Given the description of an element on the screen output the (x, y) to click on. 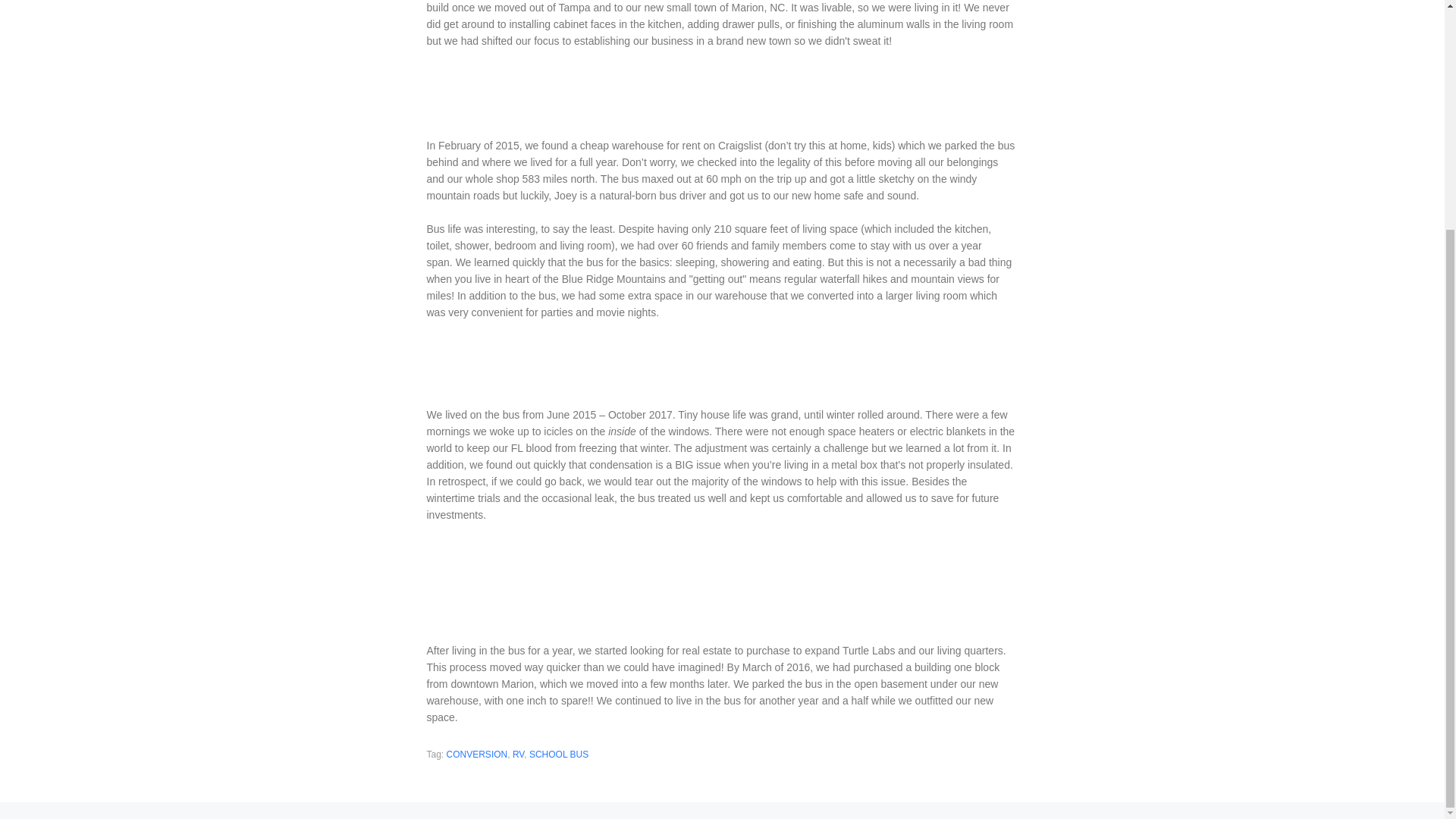
Show articles tagged Conversion (477, 754)
Show articles tagged School Bus (558, 754)
Show articles tagged RV (518, 754)
